Given the description of an element on the screen output the (x, y) to click on. 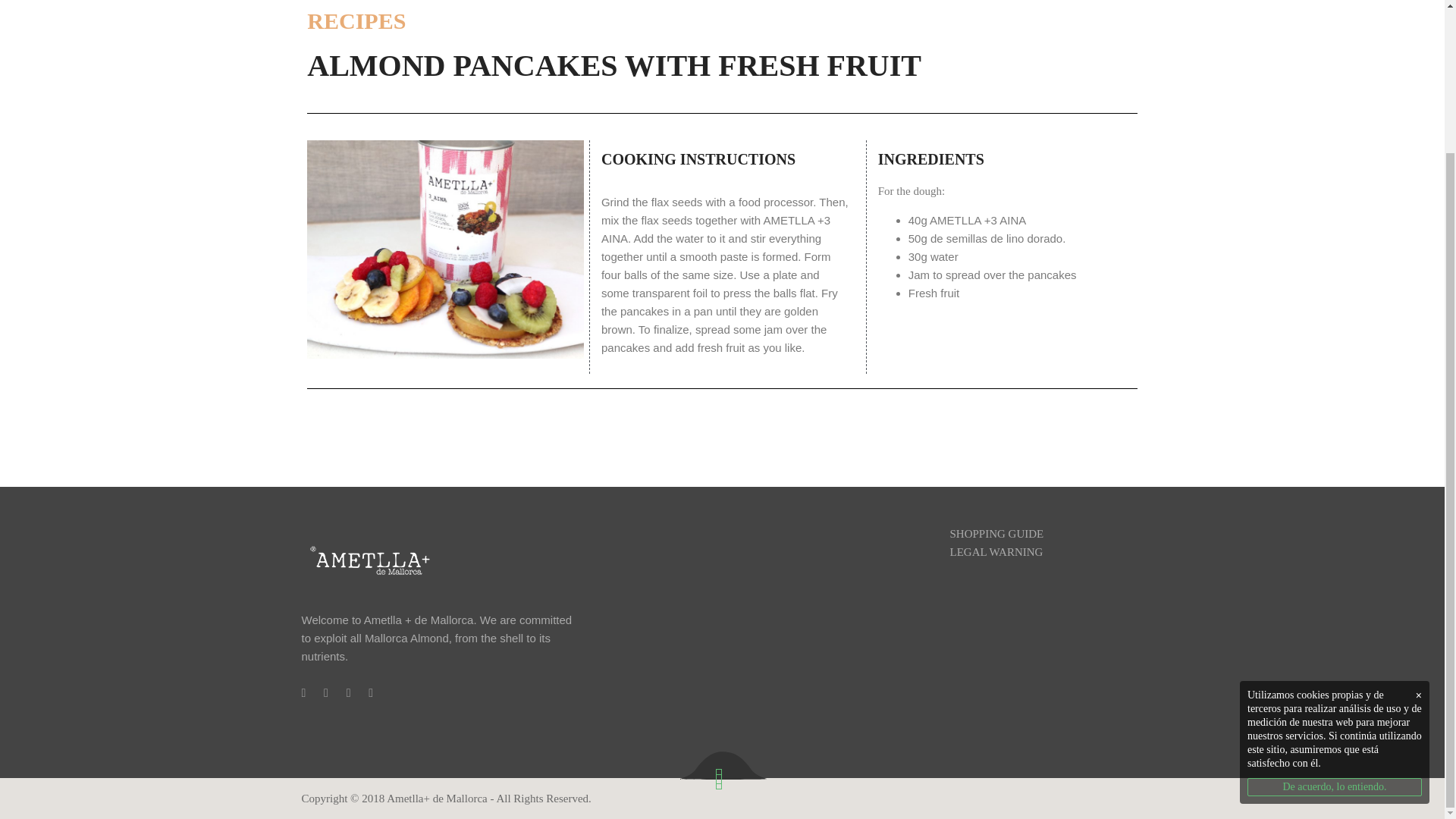
LEGAL WARNING (995, 551)
De acuerdo, lo entiendo. (1334, 609)
SHOPPING GUIDE (996, 533)
